Given the description of an element on the screen output the (x, y) to click on. 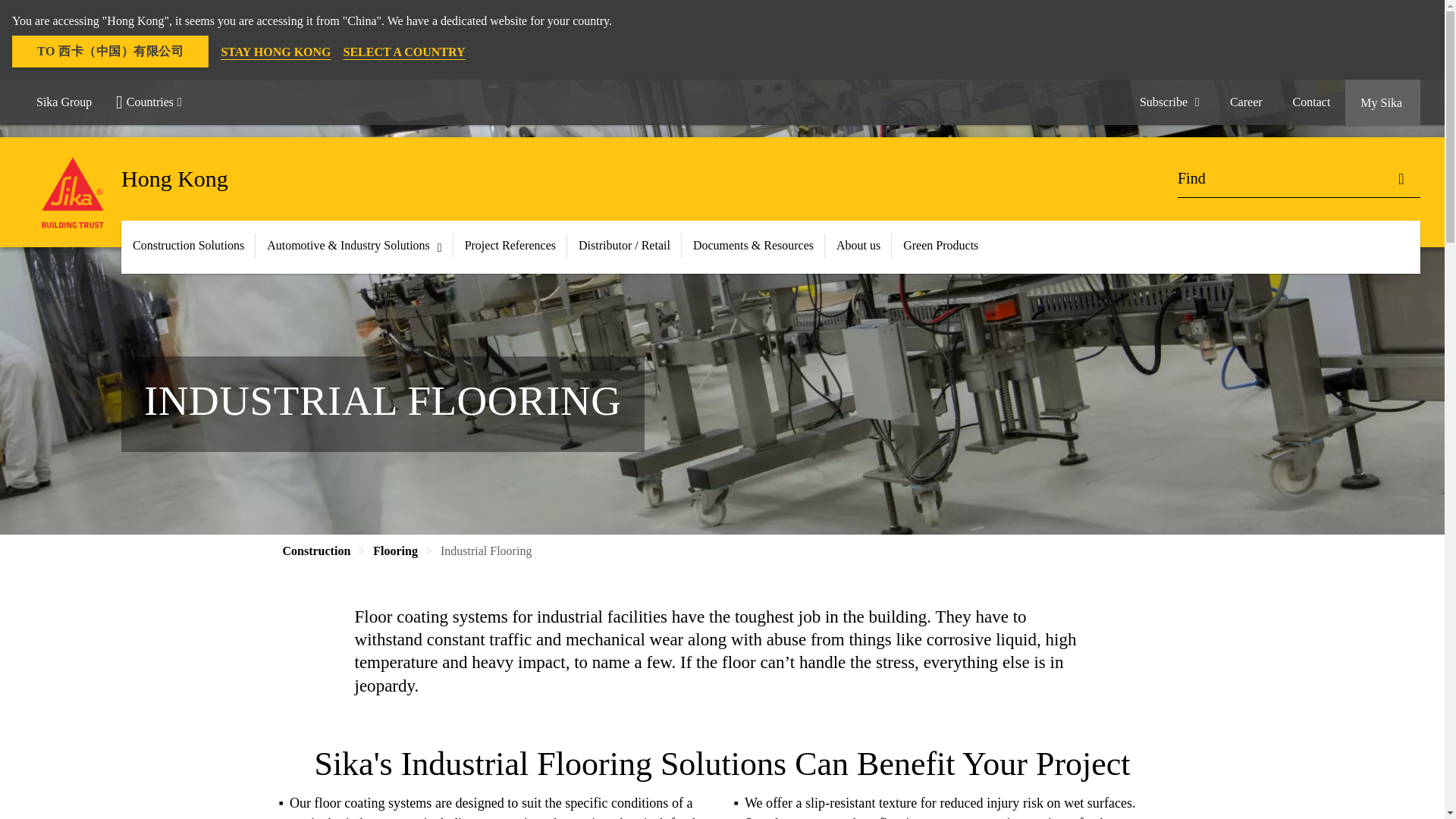
My Sika  (1383, 102)
Subscribe (1169, 102)
Countries (155, 102)
Contact (1311, 102)
Career (1246, 102)
STAY HONG KONG (275, 51)
SELECT A COUNTRY (404, 51)
Sika Logo (72, 192)
Sika Group (63, 102)
